Given the description of an element on the screen output the (x, y) to click on. 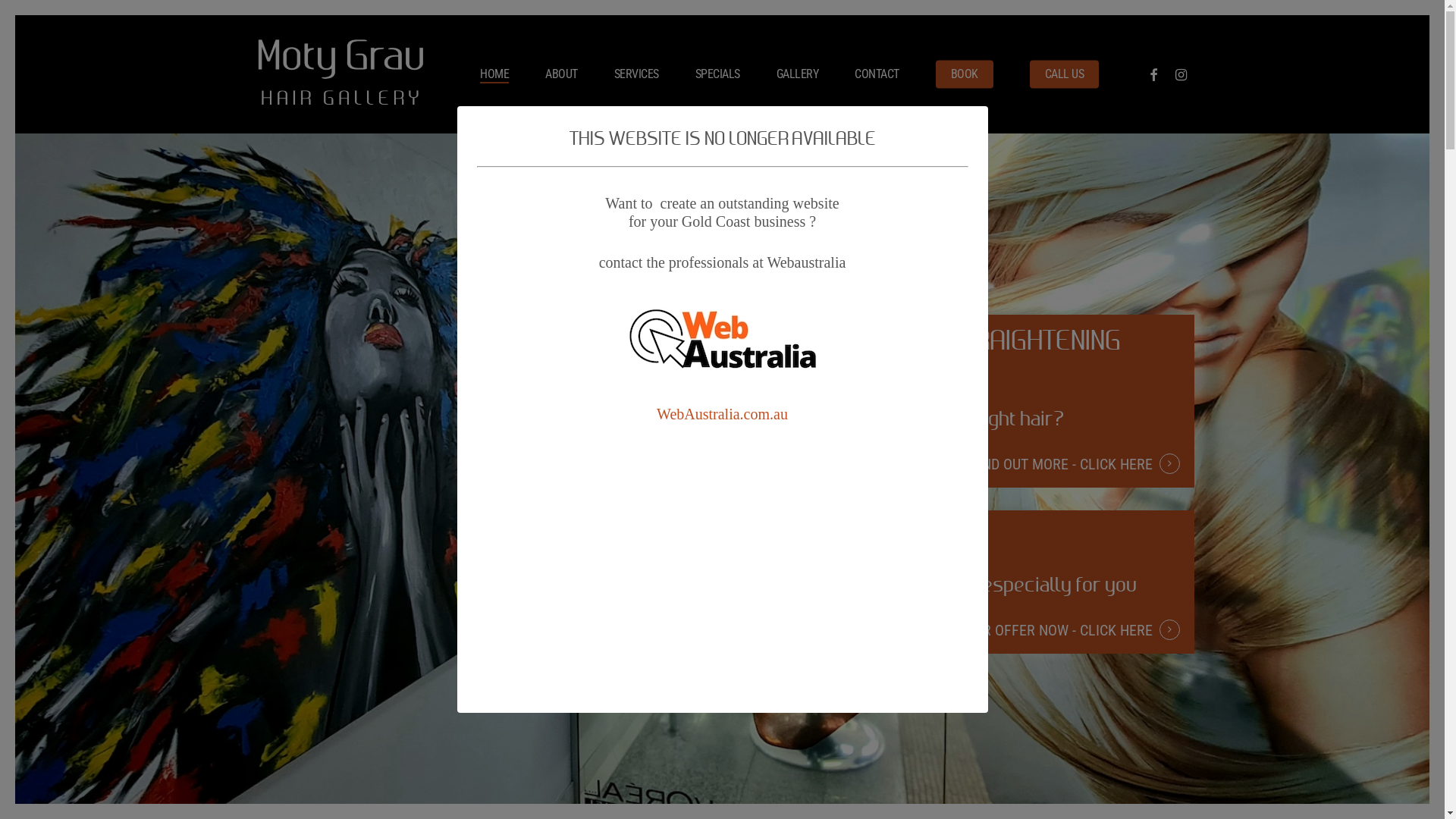
GALLERY Element type: text (797, 73)
HOME Element type: text (494, 73)
FACEBOOK Element type: text (1153, 74)
CLICK HERE Element type: text (1129, 630)
WebAustralia.com.au Element type: text (721, 413)
SPECIALS Element type: text (716, 73)
CALL US Element type: text (1064, 73)
BOOK Element type: text (964, 73)
SERVICES Element type: text (636, 73)
CONTACT Element type: text (876, 73)
CLICK HERE Element type: text (1129, 464)
ABOUT Element type: text (561, 73)
INSTAGRAM Element type: text (1180, 74)
